Given the description of an element on the screen output the (x, y) to click on. 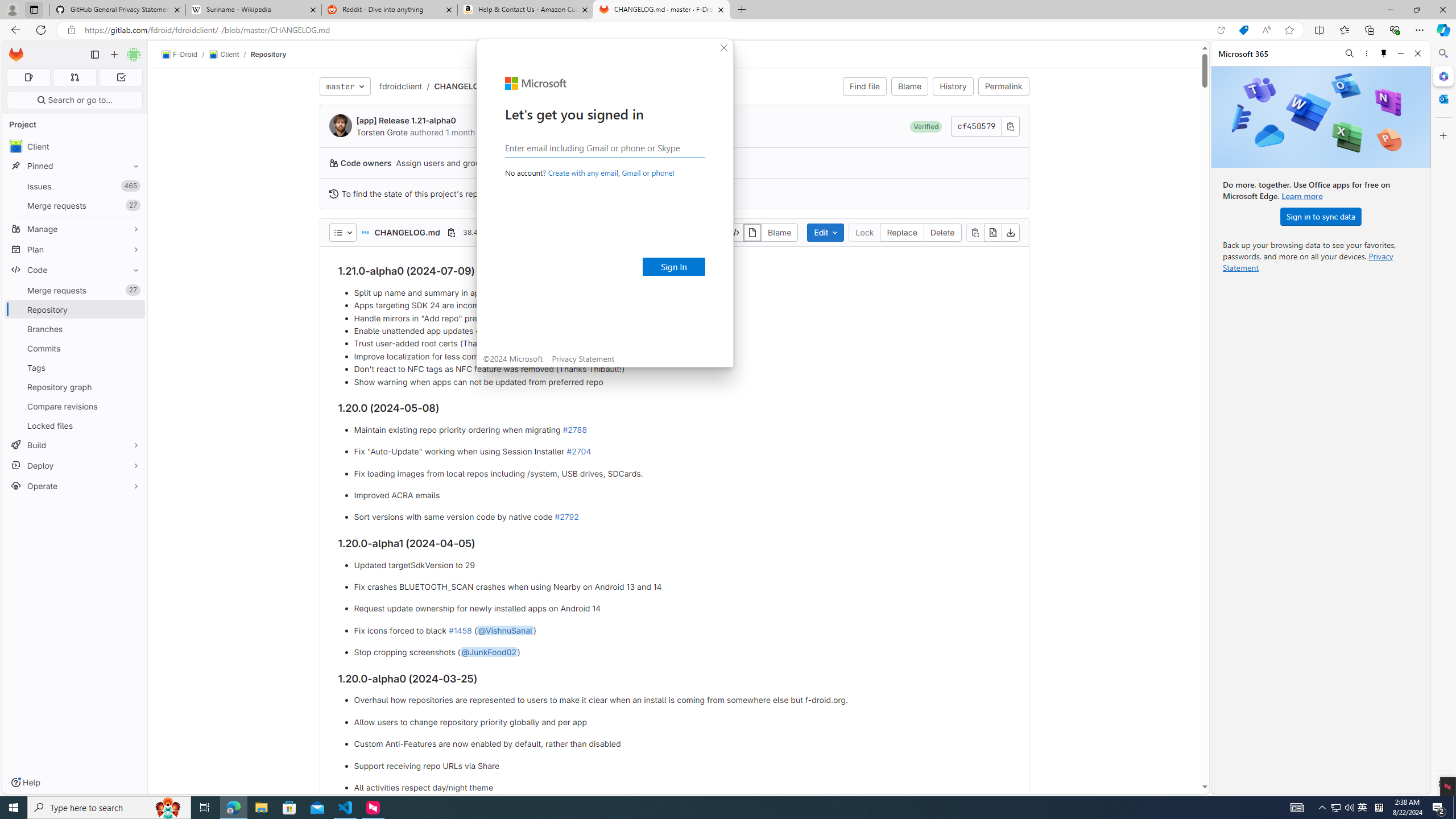
Primary navigation sidebar (94, 54)
Tab actions menu (33, 9)
Browser essentials (1394, 29)
Merge requests27 (74, 289)
History (953, 85)
fdroidclient (400, 85)
Issues465 (74, 185)
Close Outlook pane (1442, 98)
Lock (864, 232)
New Tab (741, 9)
Search highlights icon opens search home window (167, 807)
Back (13, 29)
Type here to search (108, 807)
Tags (74, 367)
